Given the description of an element on the screen output the (x, y) to click on. 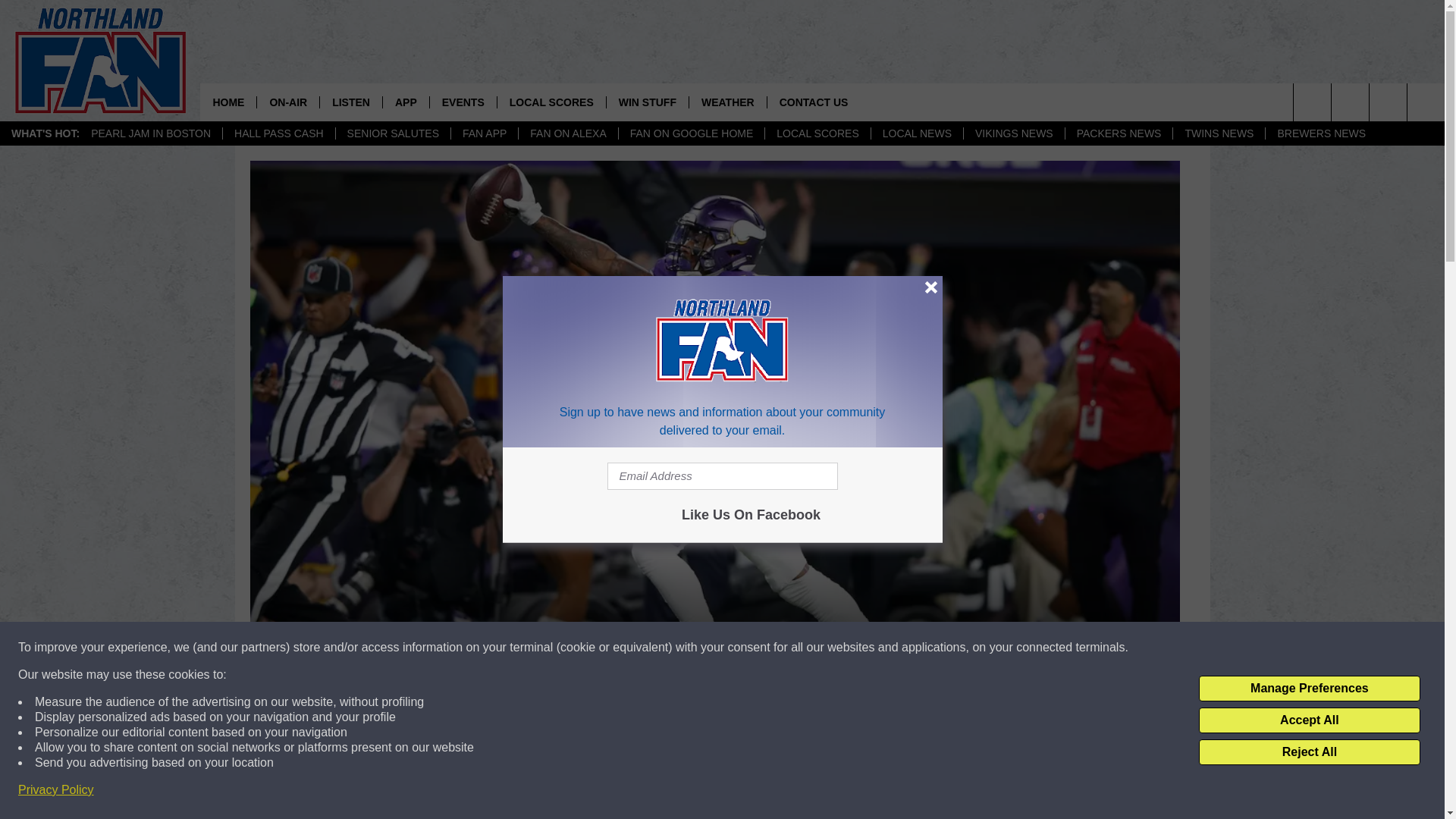
Accept All (1309, 720)
VIKINGS NEWS (1013, 133)
SENIOR SALUTES (391, 133)
Share on Twitter (912, 791)
APP (405, 102)
Manage Preferences (1309, 688)
PACKERS NEWS (1118, 133)
Privacy Policy (55, 789)
Email Address (722, 475)
Share on Facebook (517, 791)
Reject All (1309, 751)
ON-AIR (287, 102)
FAN APP (483, 133)
HALL PASS CASH (278, 133)
LOCAL NEWS (916, 133)
